Given the description of an element on the screen output the (x, y) to click on. 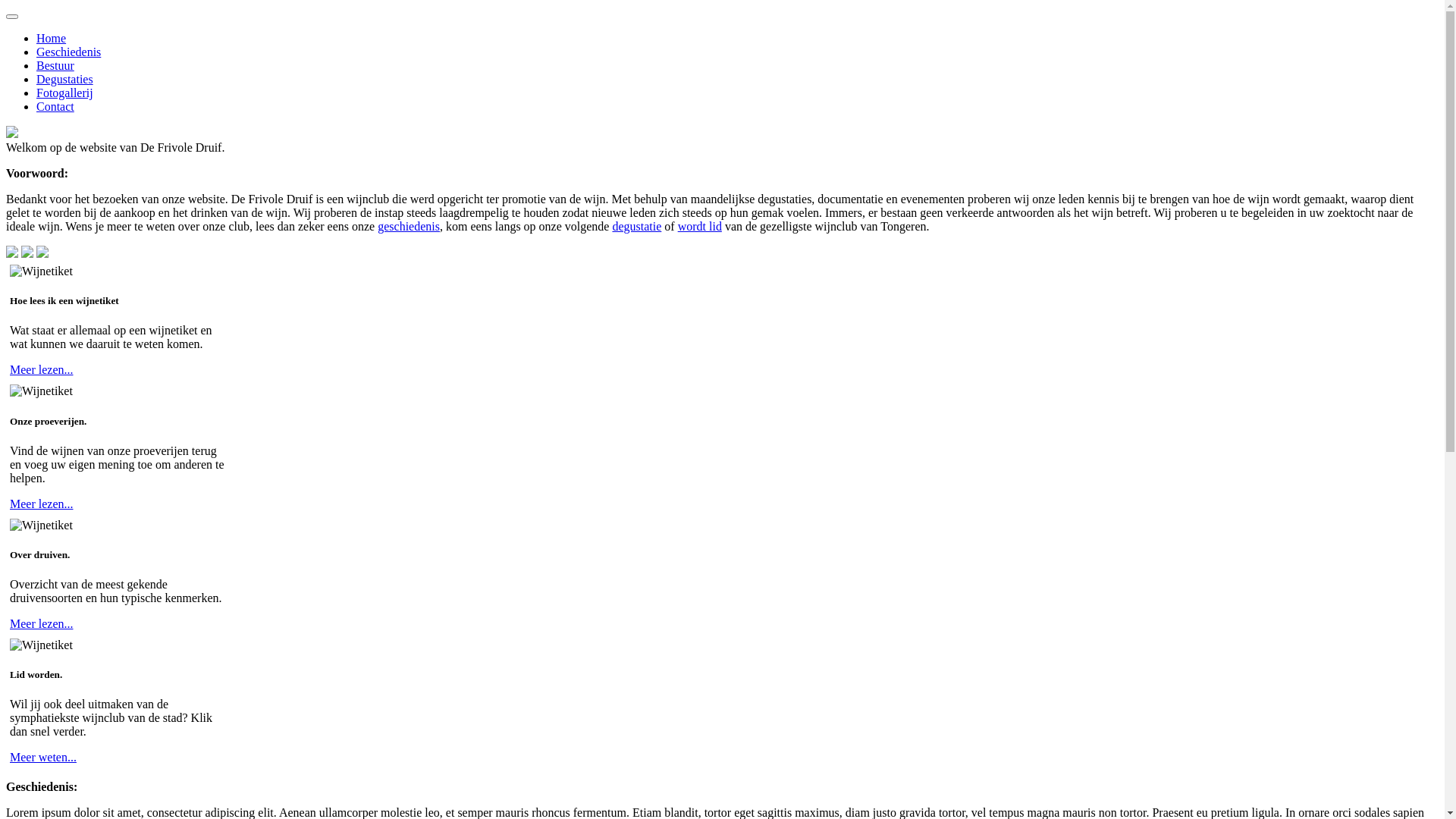
Meer lezen... Element type: text (41, 623)
Home Element type: text (50, 37)
Meer lezen... Element type: text (41, 369)
degustatie Element type: text (636, 225)
Geschiedenis Element type: text (68, 51)
Meer weten... Element type: text (42, 756)
Bestuur Element type: text (55, 65)
Fotogallerij Element type: text (64, 92)
Contact Element type: text (55, 106)
wordt lid Element type: text (699, 225)
Degustaties Element type: text (64, 78)
Meer lezen... Element type: text (41, 503)
geschiedenis Element type: text (408, 225)
